Given the description of an element on the screen output the (x, y) to click on. 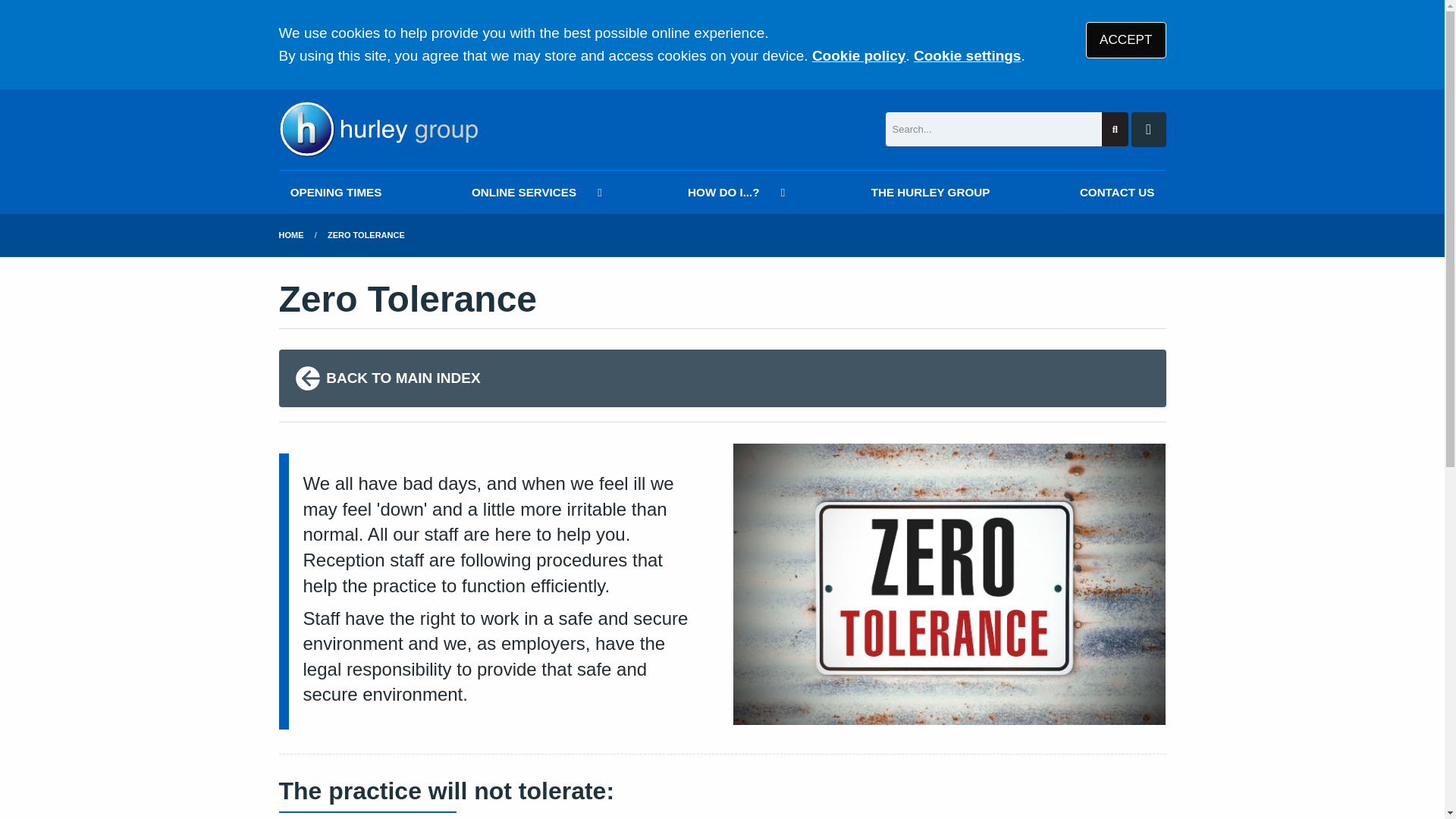
ZERO TOLERANCE (365, 234)
THE HURLEY GROUP (930, 191)
Cookie settings (967, 55)
HOME (291, 234)
ACCEPT (1126, 39)
HOW DO I...? (734, 191)
BACK TO MAIN INDEX (722, 378)
CONTACT US (1117, 191)
OPENING TIMES (336, 191)
Cookie policy (858, 55)
